Given the description of an element on the screen output the (x, y) to click on. 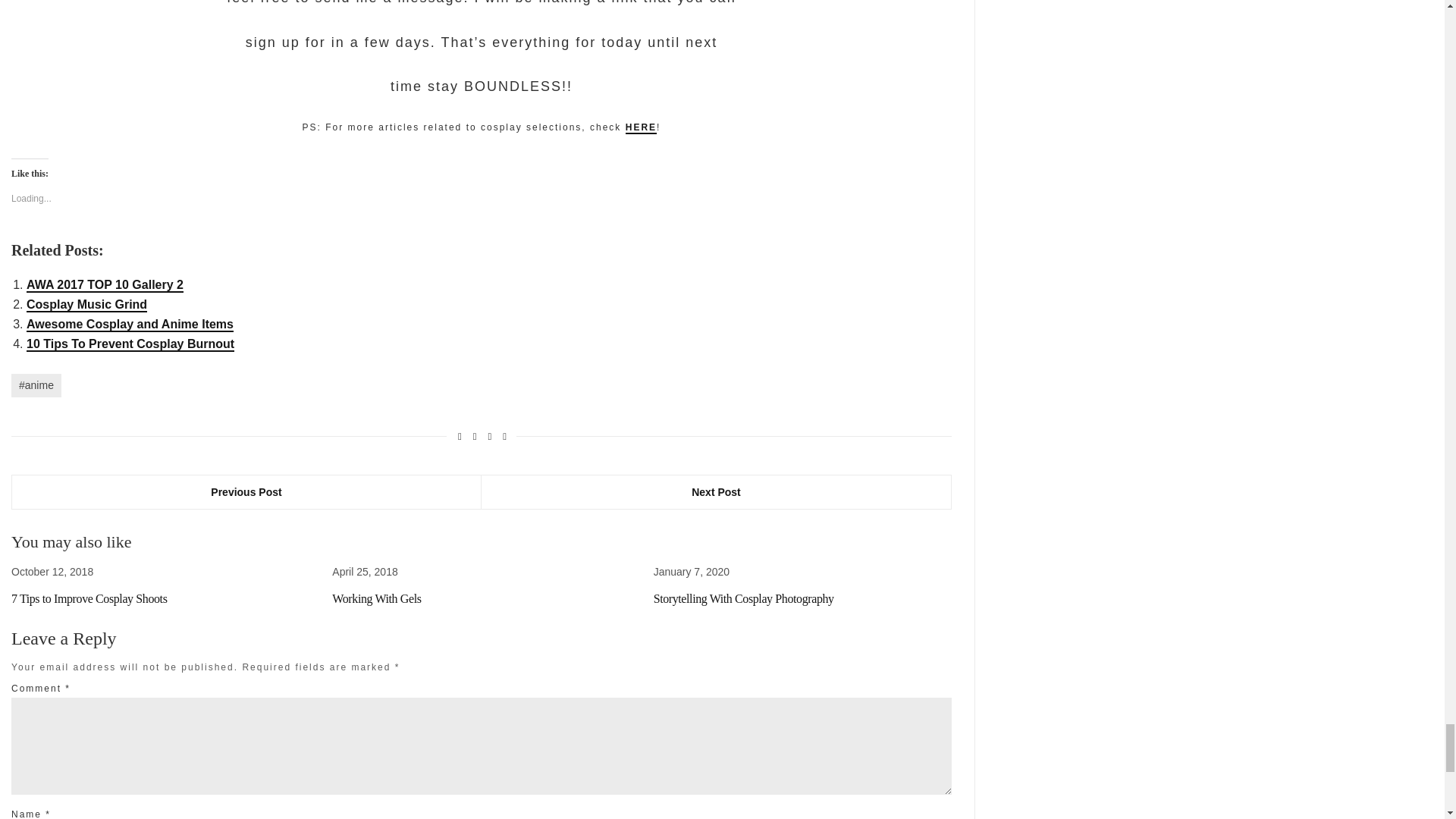
Awesome Cosplay and Anime Items (129, 324)
10 Tips To Prevent Cosplay Burnout (130, 344)
Cosplay Music Grind (86, 305)
AWA 2017 TOP 10 Gallery 2 (104, 285)
